Given the description of an element on the screen output the (x, y) to click on. 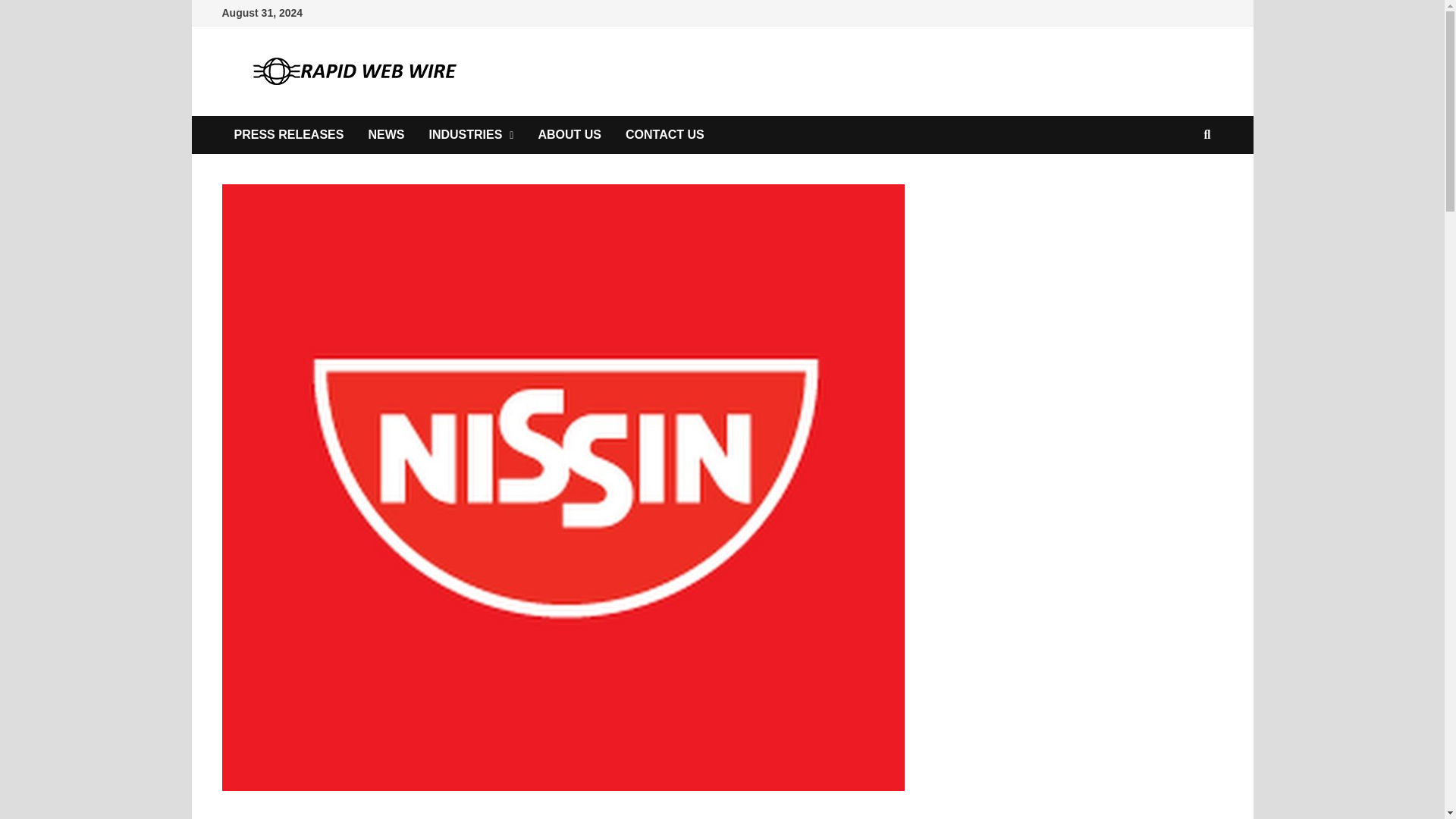
PRESS RELEASES (288, 134)
INDUSTRIES (470, 134)
ABOUT US (568, 134)
CONTACT US (664, 134)
NEWS (385, 134)
